Given the description of an element on the screen output the (x, y) to click on. 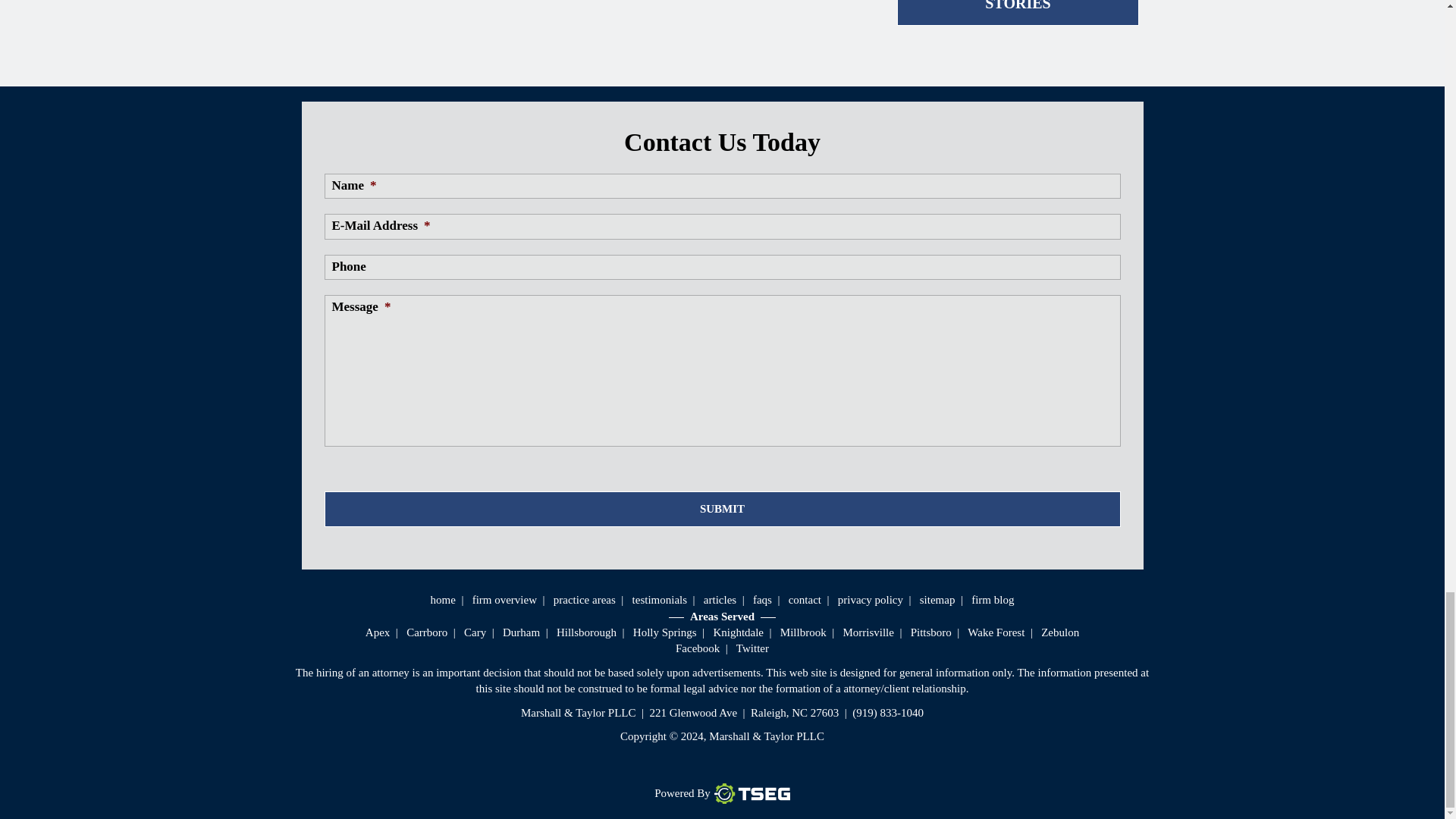
Submit (722, 509)
sitemap (937, 599)
articles (719, 599)
contact (805, 599)
privacy policy (870, 599)
faqs (761, 599)
firm overview (504, 599)
home (442, 599)
practice areas (584, 599)
READ MORE CLIENT STORIES (1017, 12)
Submit (722, 509)
testimonials (659, 599)
